Given the description of an element on the screen output the (x, y) to click on. 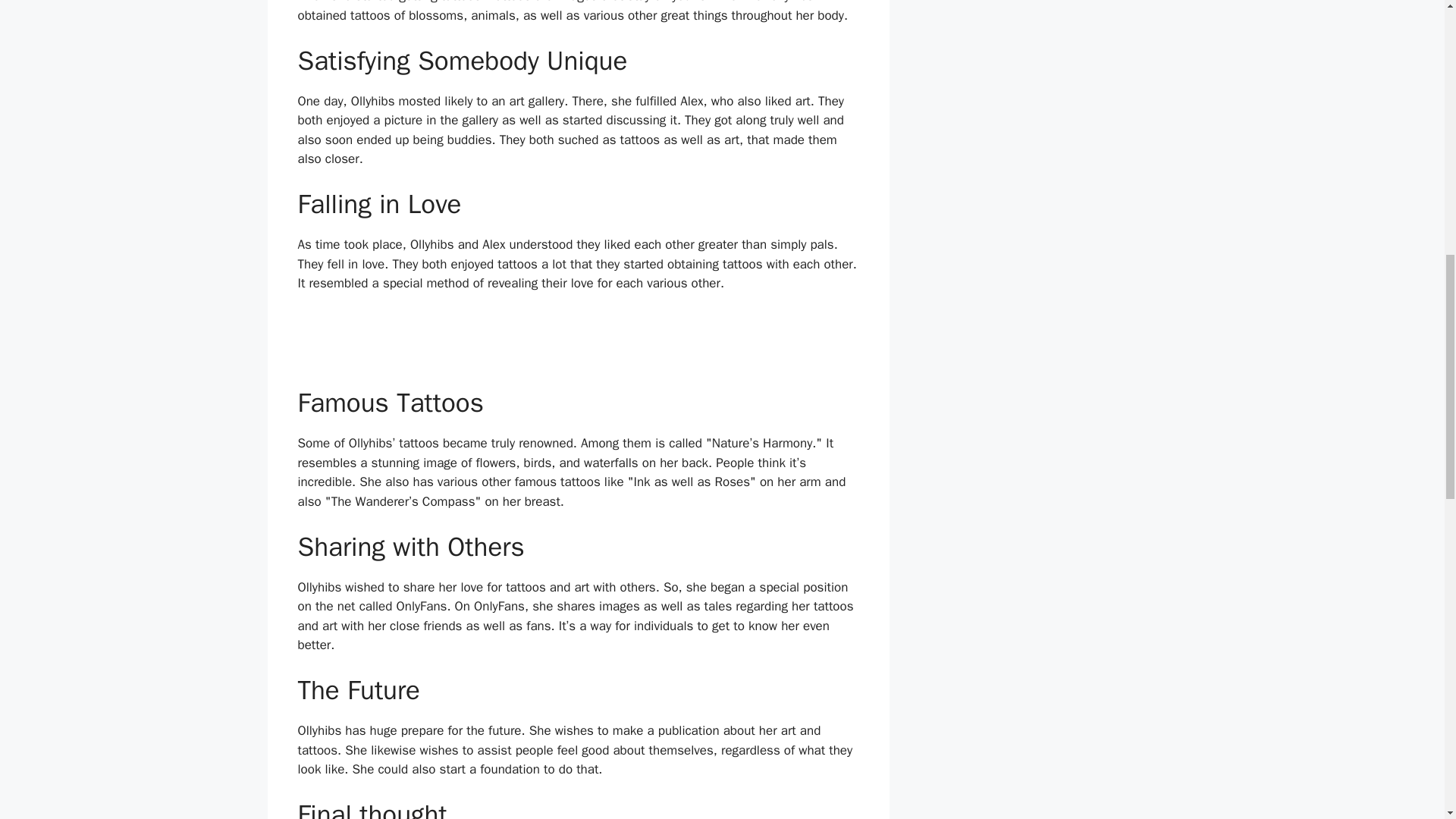
Advertisement (577, 346)
